Given the description of an element on the screen output the (x, y) to click on. 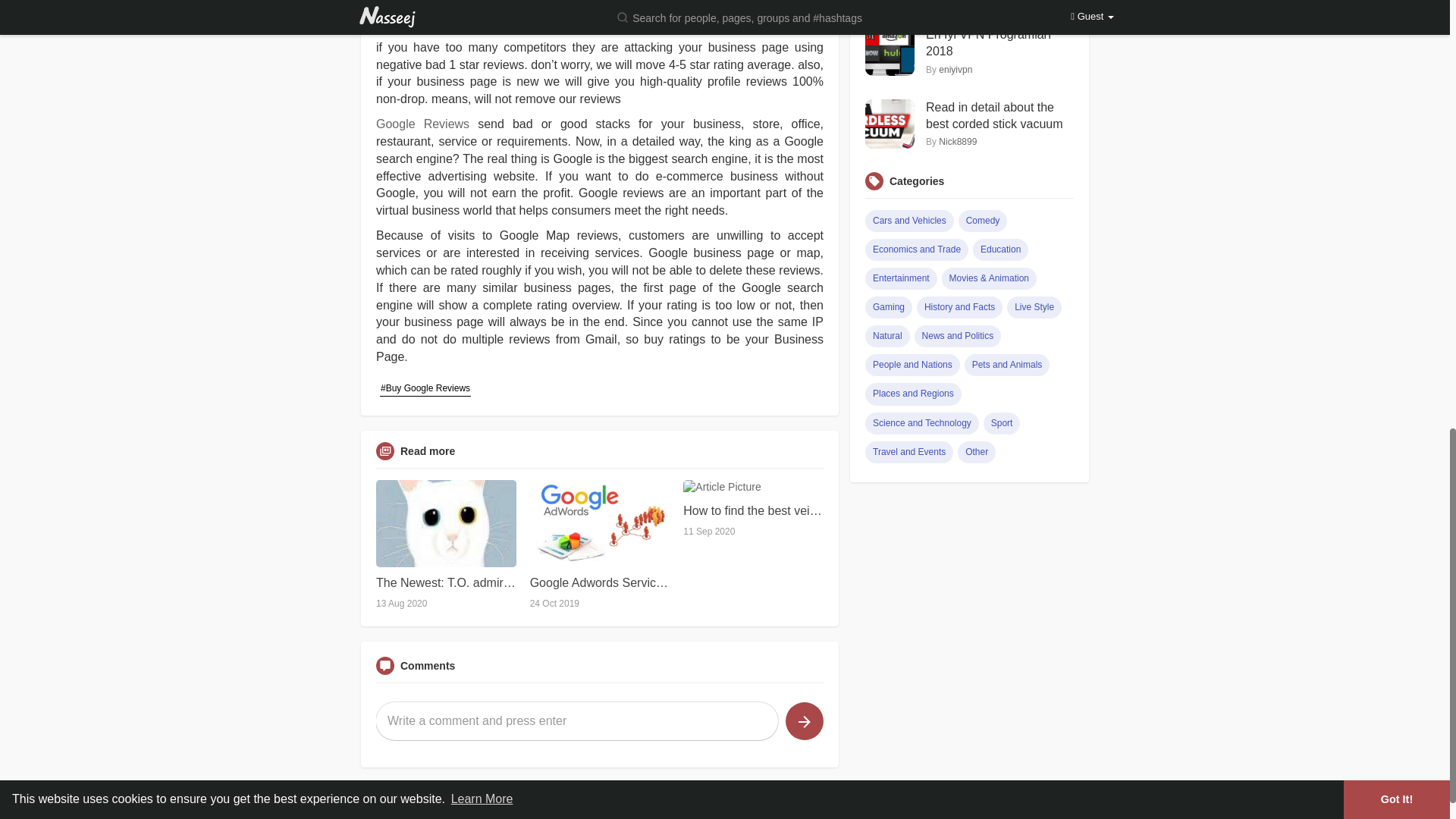
Nick8899 (957, 1)
How to find the best vein doctor (753, 510)
Google Reviews (421, 123)
eniyivpn (955, 69)
Google Adwords Services - Sathya Technosoft (599, 582)
